Given the description of an element on the screen output the (x, y) to click on. 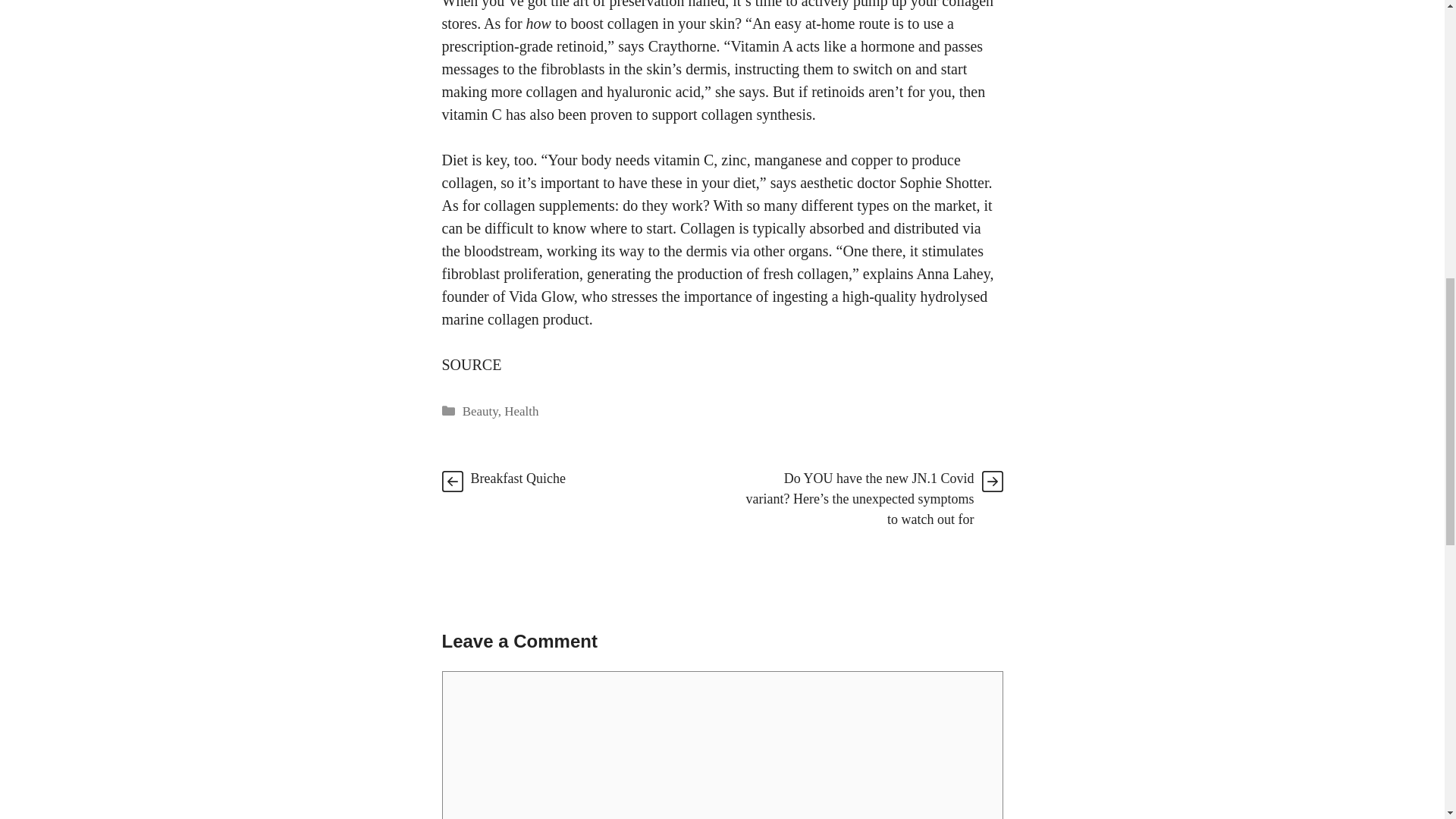
SOURCE (470, 364)
Beauty (480, 411)
Breakfast Quiche (517, 477)
Health (520, 411)
